Given the description of an element on the screen output the (x, y) to click on. 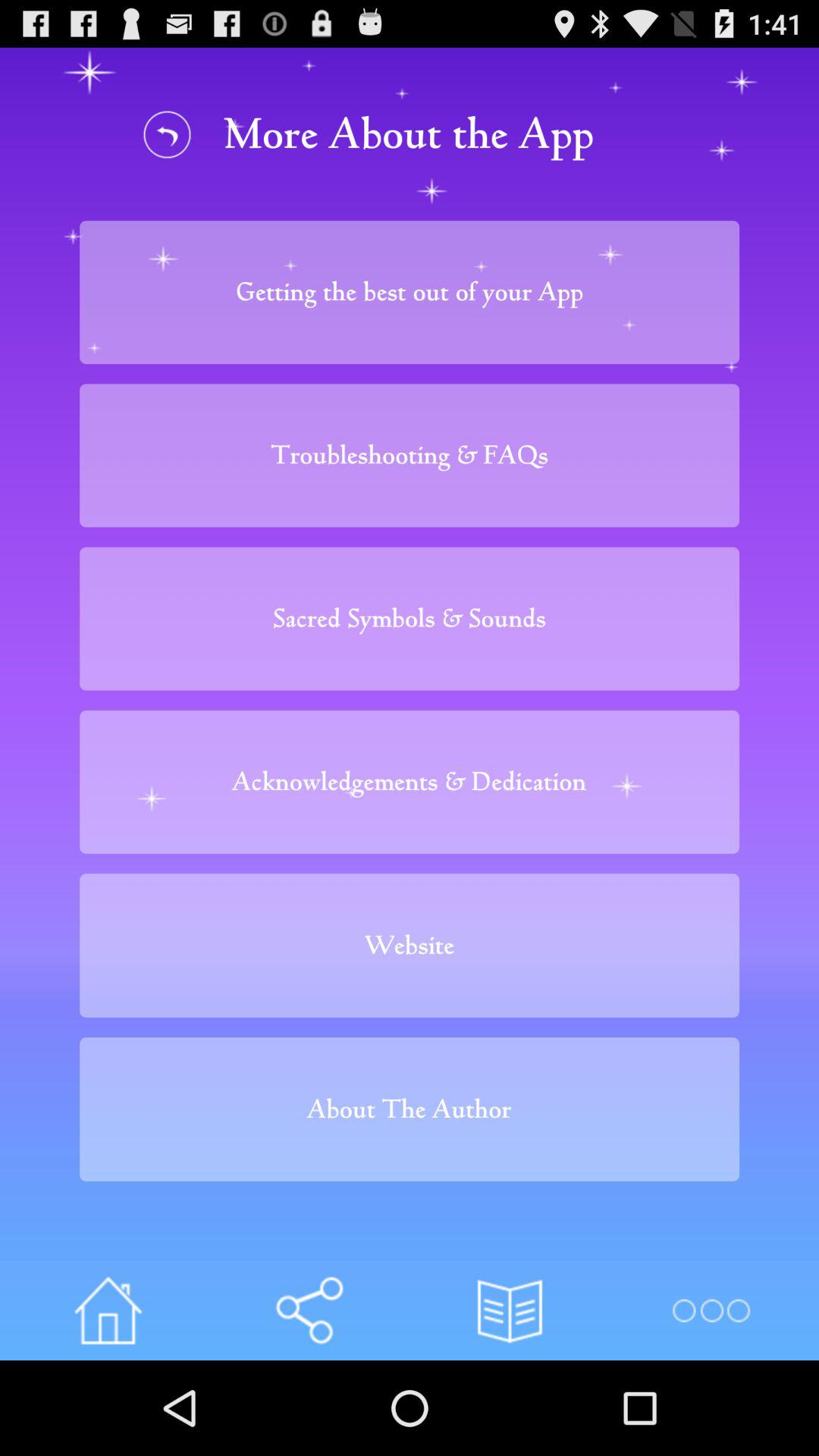
go home (107, 1310)
